Given the description of an element on the screen output the (x, y) to click on. 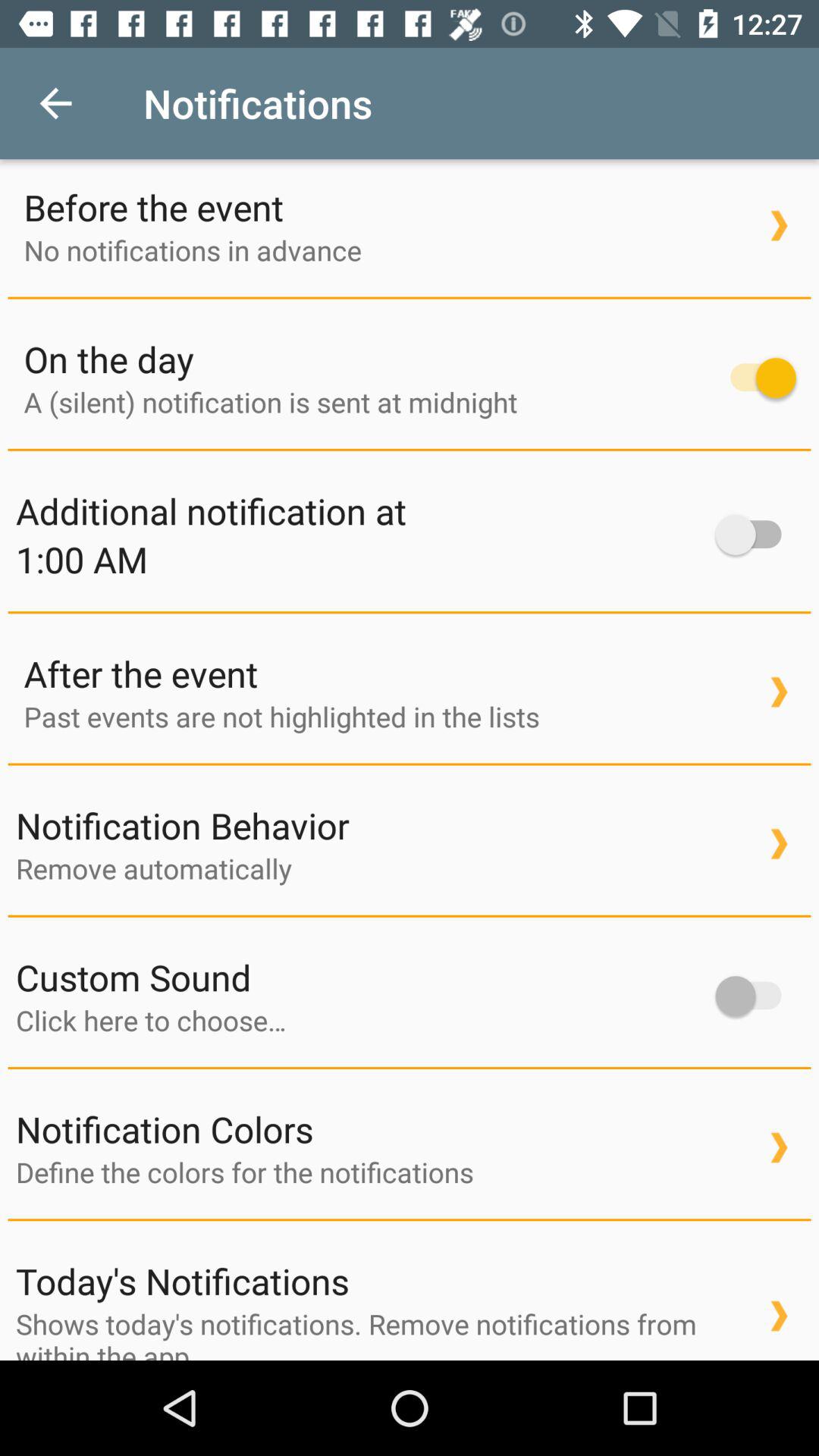
choose the icon to the right of additional notification at item (755, 534)
